Given the description of an element on the screen output the (x, y) to click on. 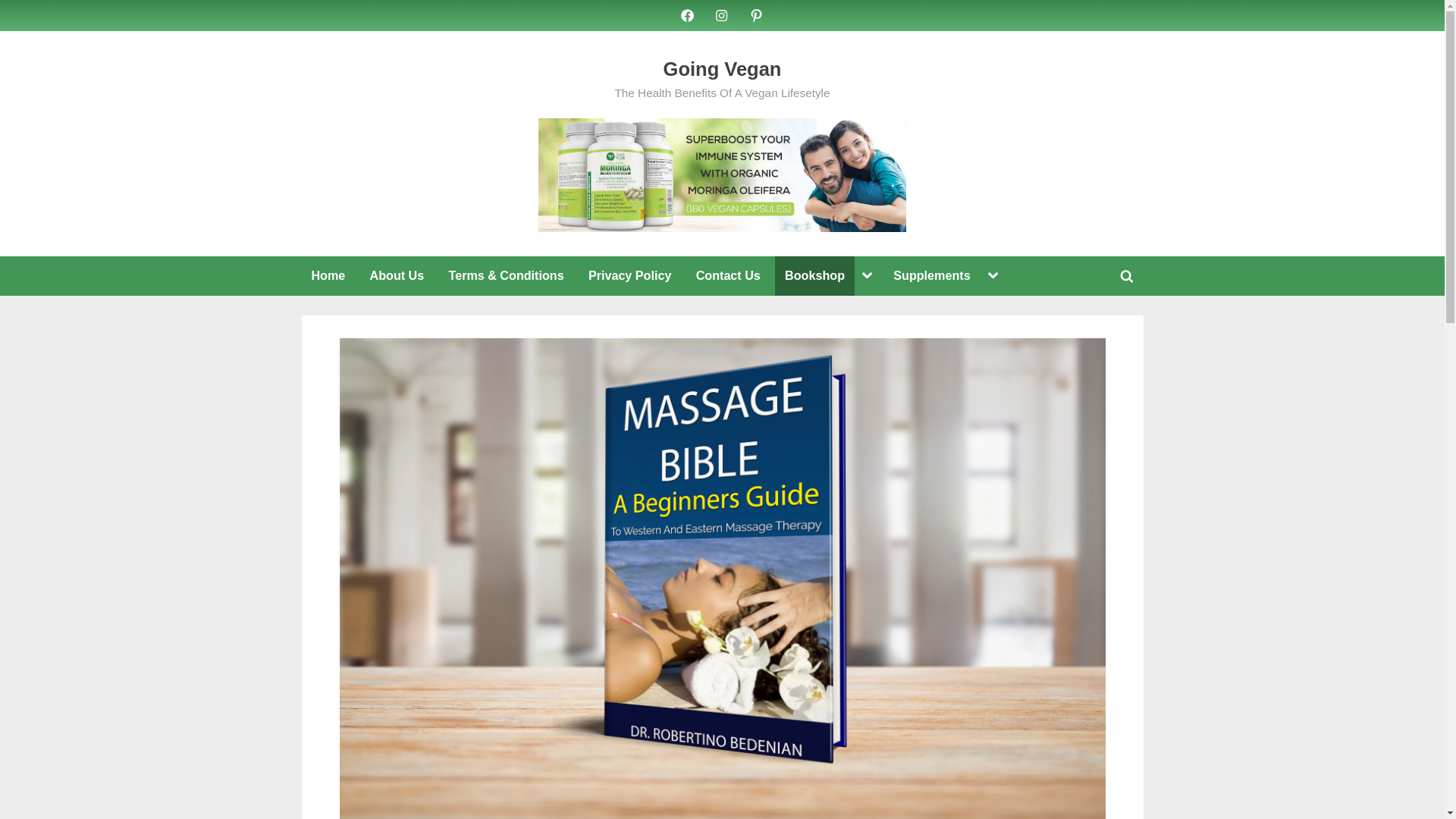
Contact Us (727, 275)
Going Vegan (722, 68)
Toggle search form (1126, 275)
About Us (396, 275)
Bookshop (814, 275)
Pinterest (756, 14)
Facebook (687, 14)
Home (328, 275)
Instagram (721, 14)
Buy Organic Coconut Oil Capsules Here! (721, 174)
Privacy Policy (629, 275)
Supplements (931, 275)
Toggle sub-menu (992, 275)
Toggle sub-menu (867, 275)
